Given the description of an element on the screen output the (x, y) to click on. 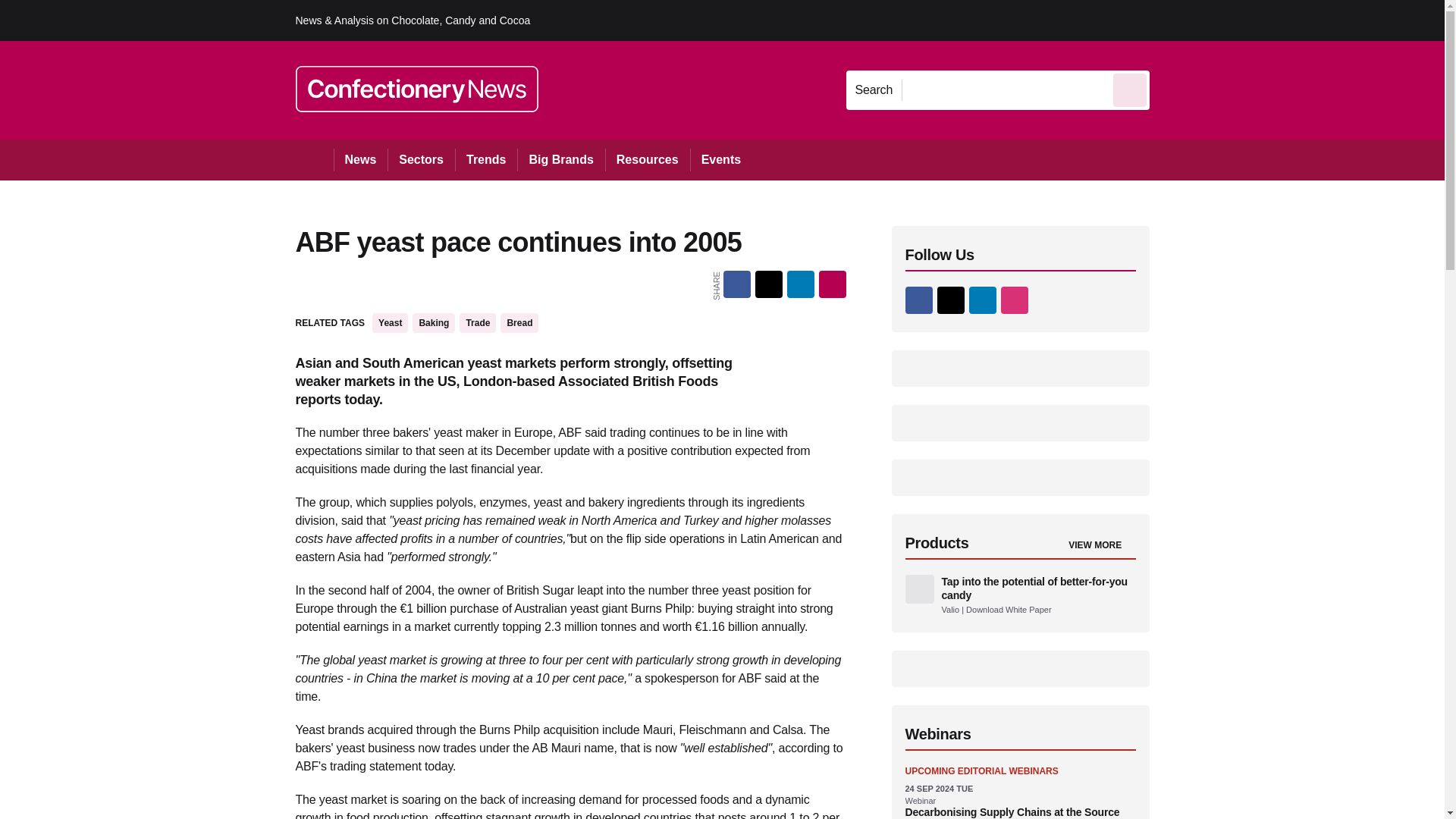
News (360, 159)
Send (1129, 89)
Sign out (1174, 20)
Send (1129, 90)
Home (314, 159)
Trends (485, 159)
Home (313, 159)
Sign in (1171, 20)
My account (1256, 20)
ConfectioneryNews (416, 89)
Sectors (420, 159)
REGISTER (1250, 20)
